Given the description of an element on the screen output the (x, y) to click on. 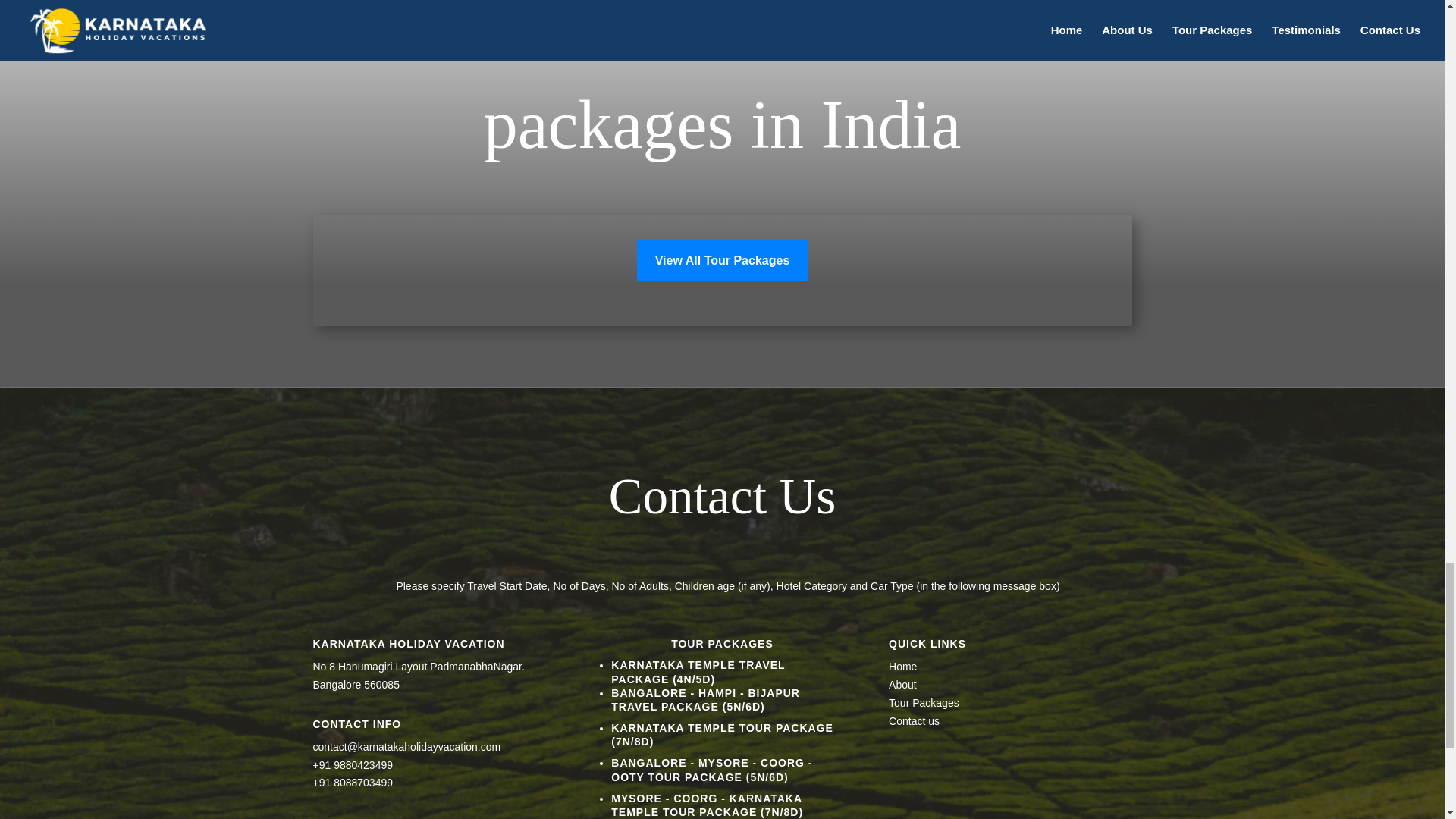
Tour Packages (923, 702)
Contact us (913, 720)
About (902, 684)
View All Tour Packages (722, 260)
Home (902, 666)
